Given the description of an element on the screen output the (x, y) to click on. 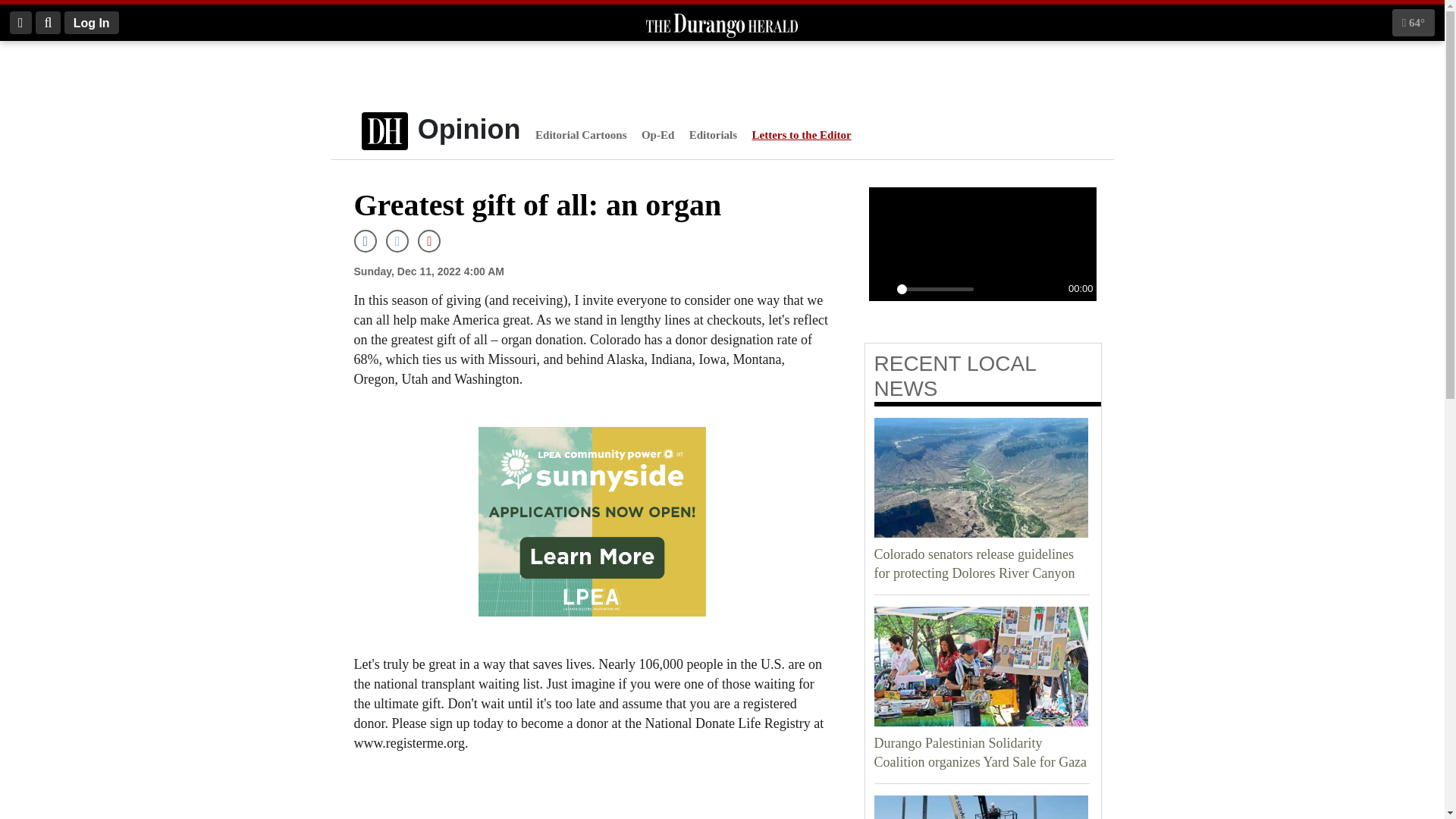
0 (935, 288)
